Given the description of an element on the screen output the (x, y) to click on. 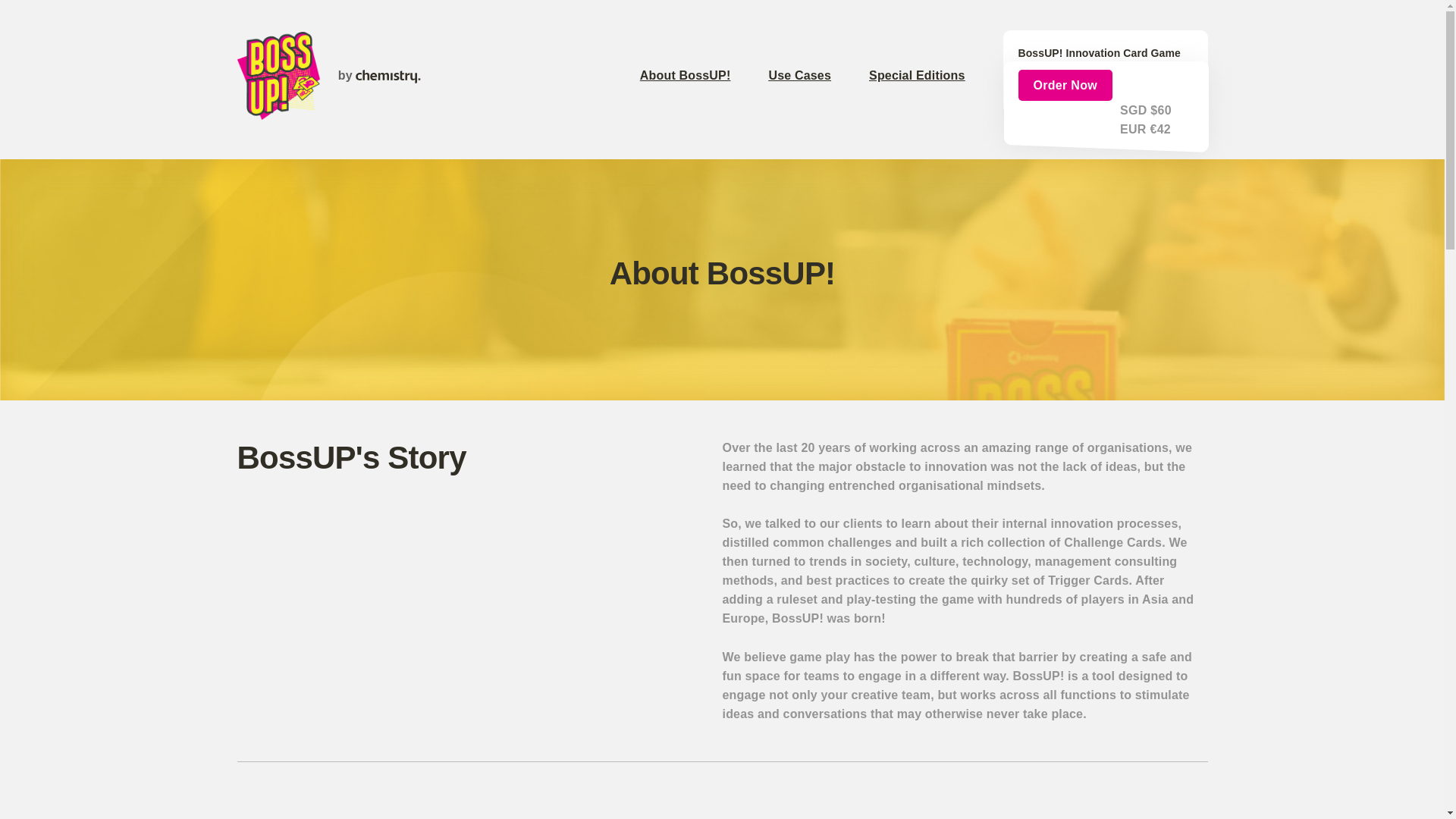
Order Now Element type: text (1064, 84)
Use Cases Element type: text (818, 75)
Special Editions Element type: text (935, 75)
About BossUP! Element type: text (704, 75)
